Given the description of an element on the screen output the (x, y) to click on. 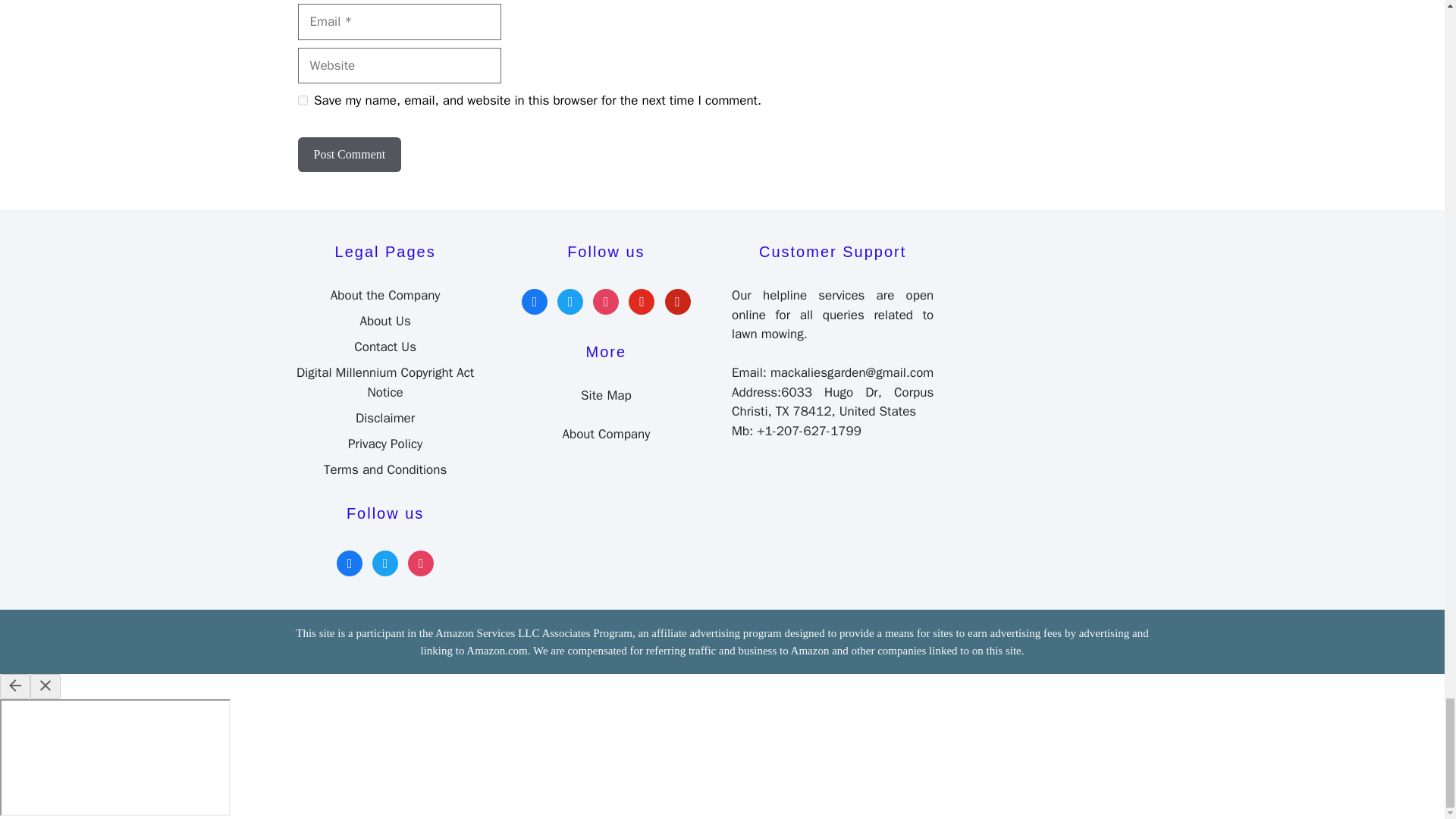
yes (302, 100)
Post Comment (349, 154)
Post Comment (349, 154)
